Given the description of an element on the screen output the (x, y) to click on. 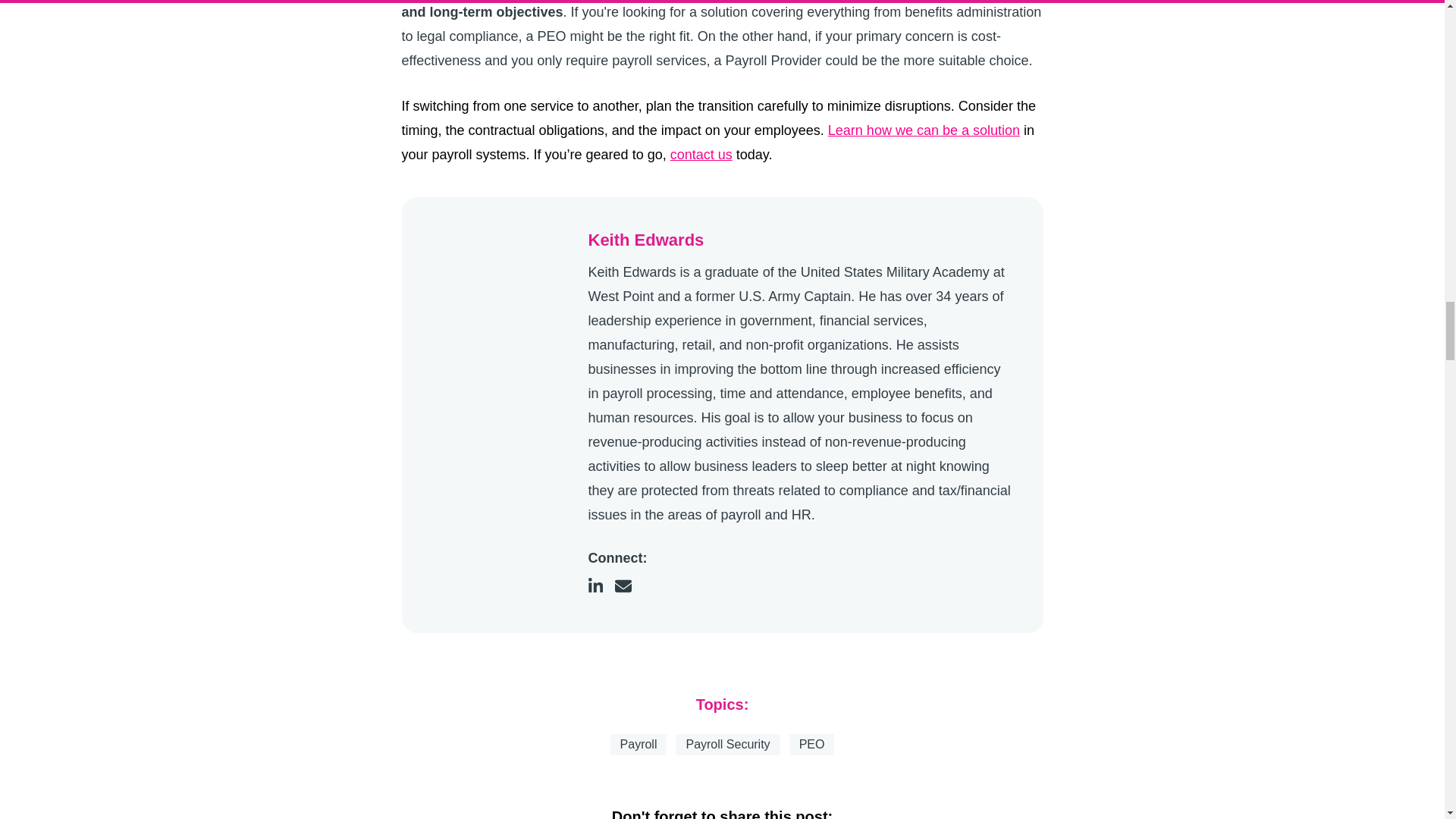
Payroll Security (726, 744)
Payroll (638, 744)
Connect with  via Email (628, 585)
PEO (811, 744)
Keith Edwards (498, 294)
